Given the description of an element on the screen output the (x, y) to click on. 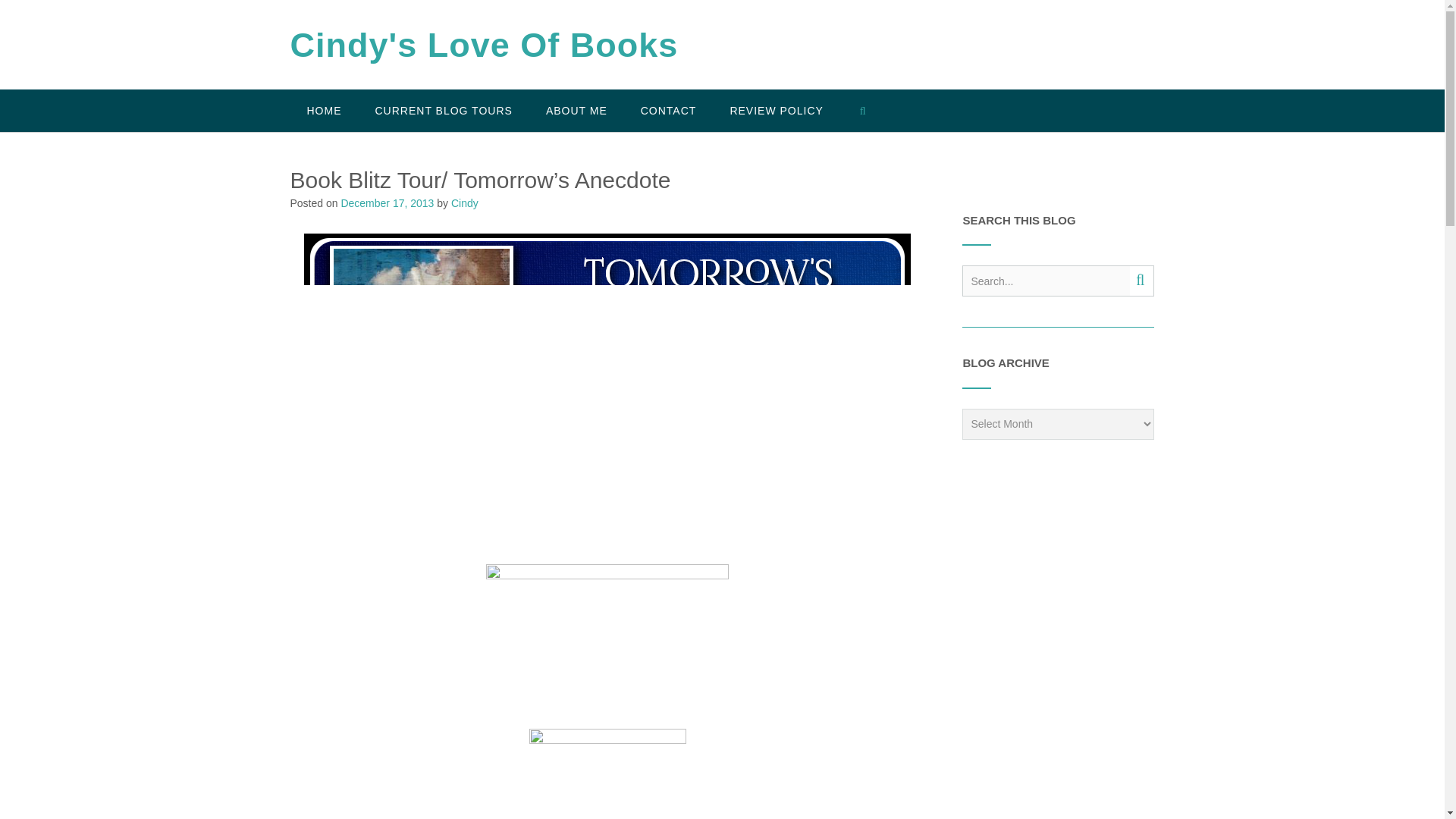
HOME (323, 110)
REVIEW POLICY (776, 110)
CONTACT (668, 110)
CURRENT BLOG TOURS (443, 110)
ABOUT ME (576, 110)
Cindy's Love Of Books (483, 45)
Cindy's Love Of Books (483, 45)
Search for: (1045, 280)
Cindy (465, 203)
December 17, 2013 (386, 203)
